Given the description of an element on the screen output the (x, y) to click on. 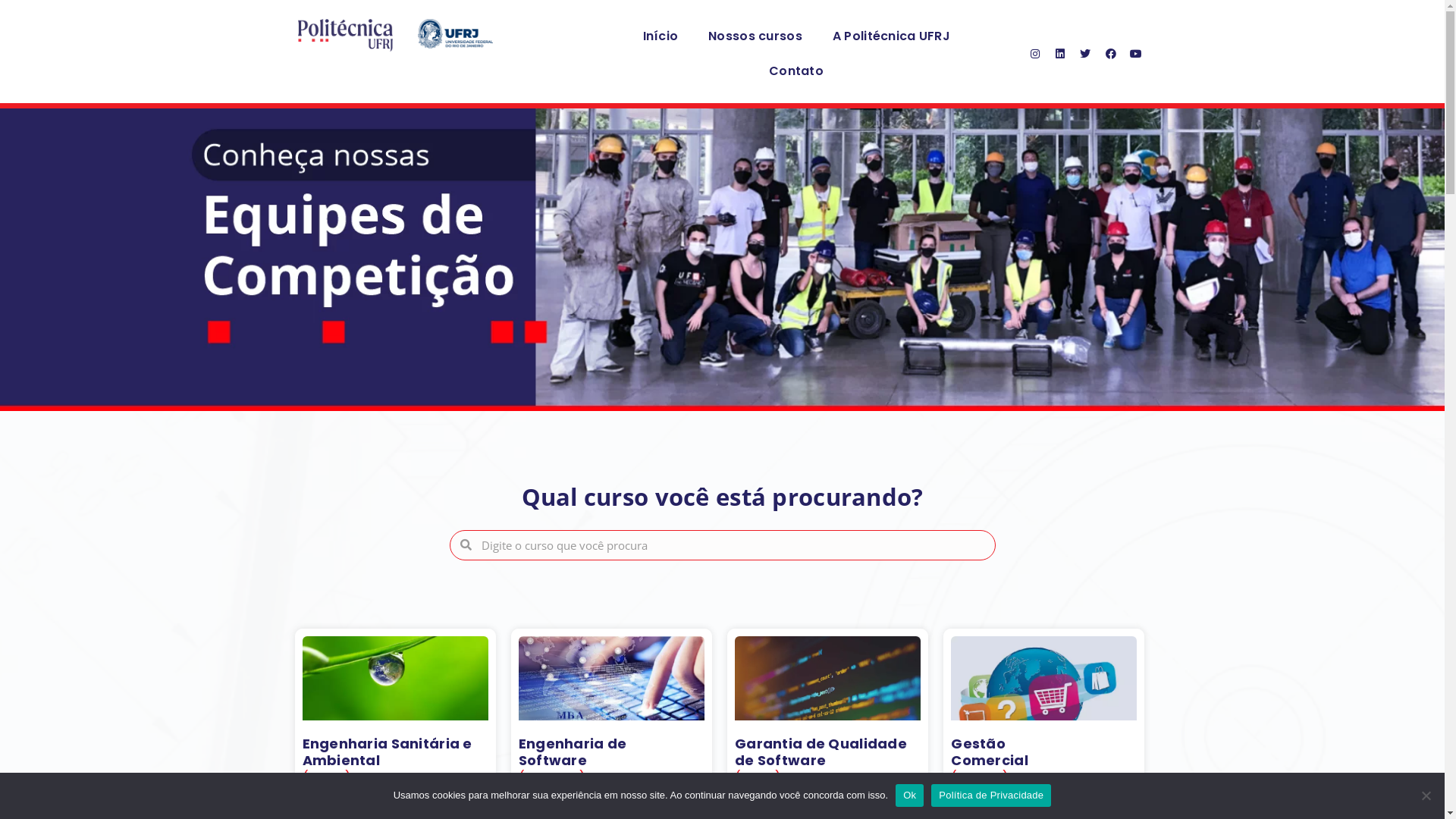
Contato Element type: text (795, 70)
Ok Element type: text (909, 795)
No Element type: hover (1425, 795)
Search Element type: hover (732, 544)
Nossos cursos Element type: text (755, 35)
